Given the description of an element on the screen output the (x, y) to click on. 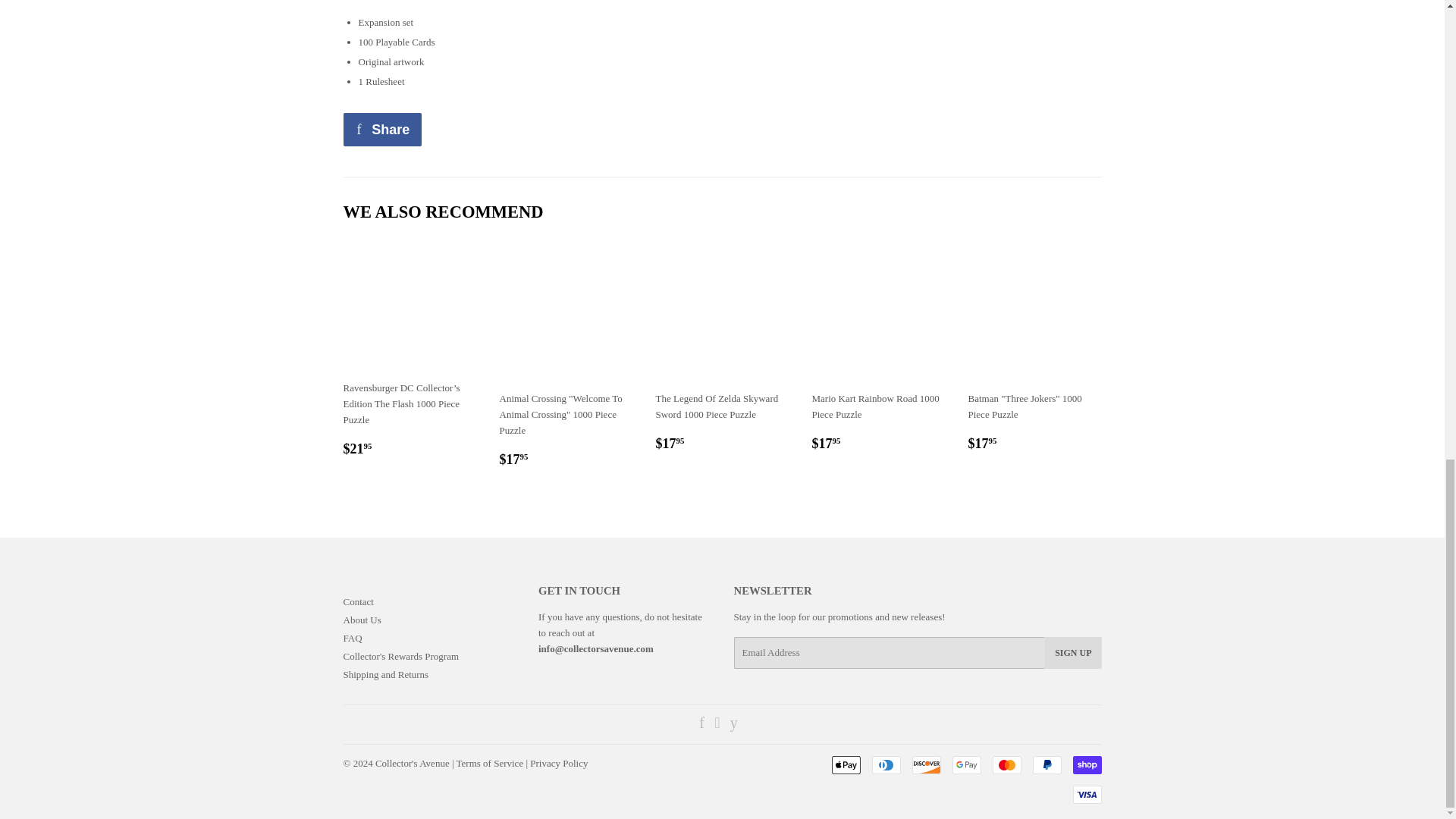
Apple Pay (845, 764)
Visa (1085, 794)
PayPal (1046, 764)
Shop Pay (1085, 764)
Mastercard (1005, 764)
Google Pay (966, 764)
Share on Facebook (382, 129)
Discover (925, 764)
Diners Club (886, 764)
